Given the description of an element on the screen output the (x, y) to click on. 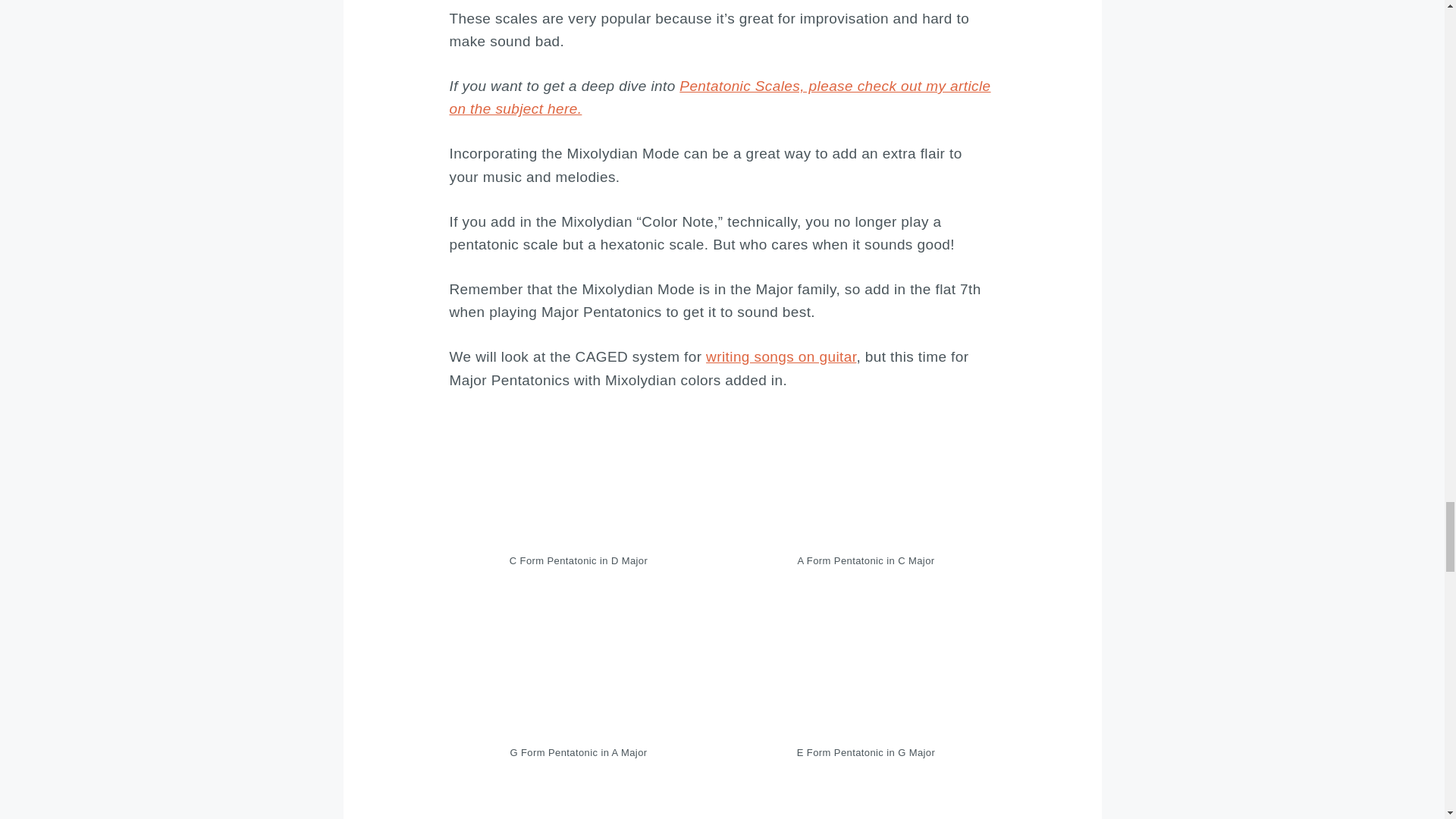
writing songs on guitar (781, 356)
